Given the description of an element on the screen output the (x, y) to click on. 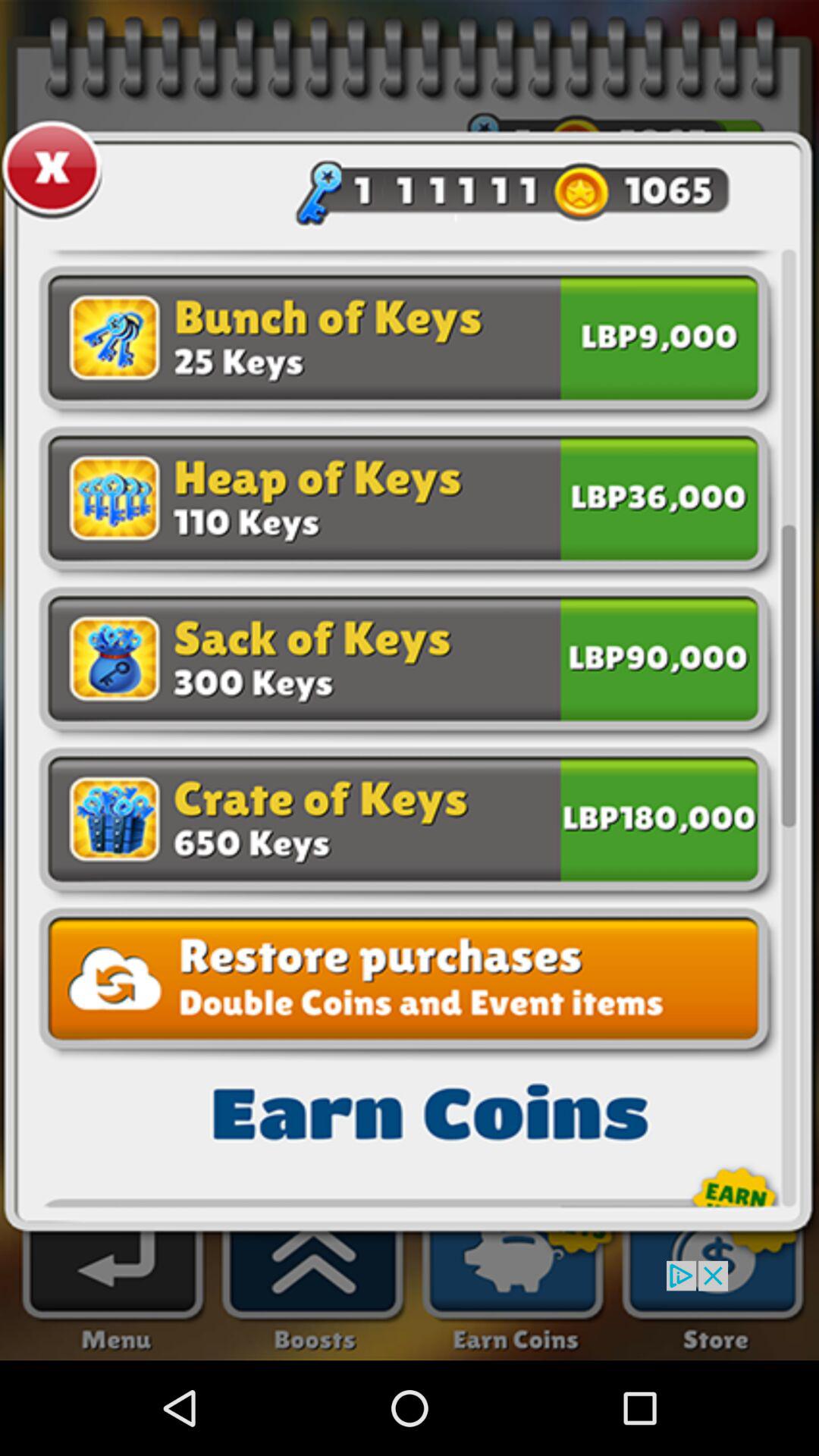
advertisement (409, 1310)
